Given the description of an element on the screen output the (x, y) to click on. 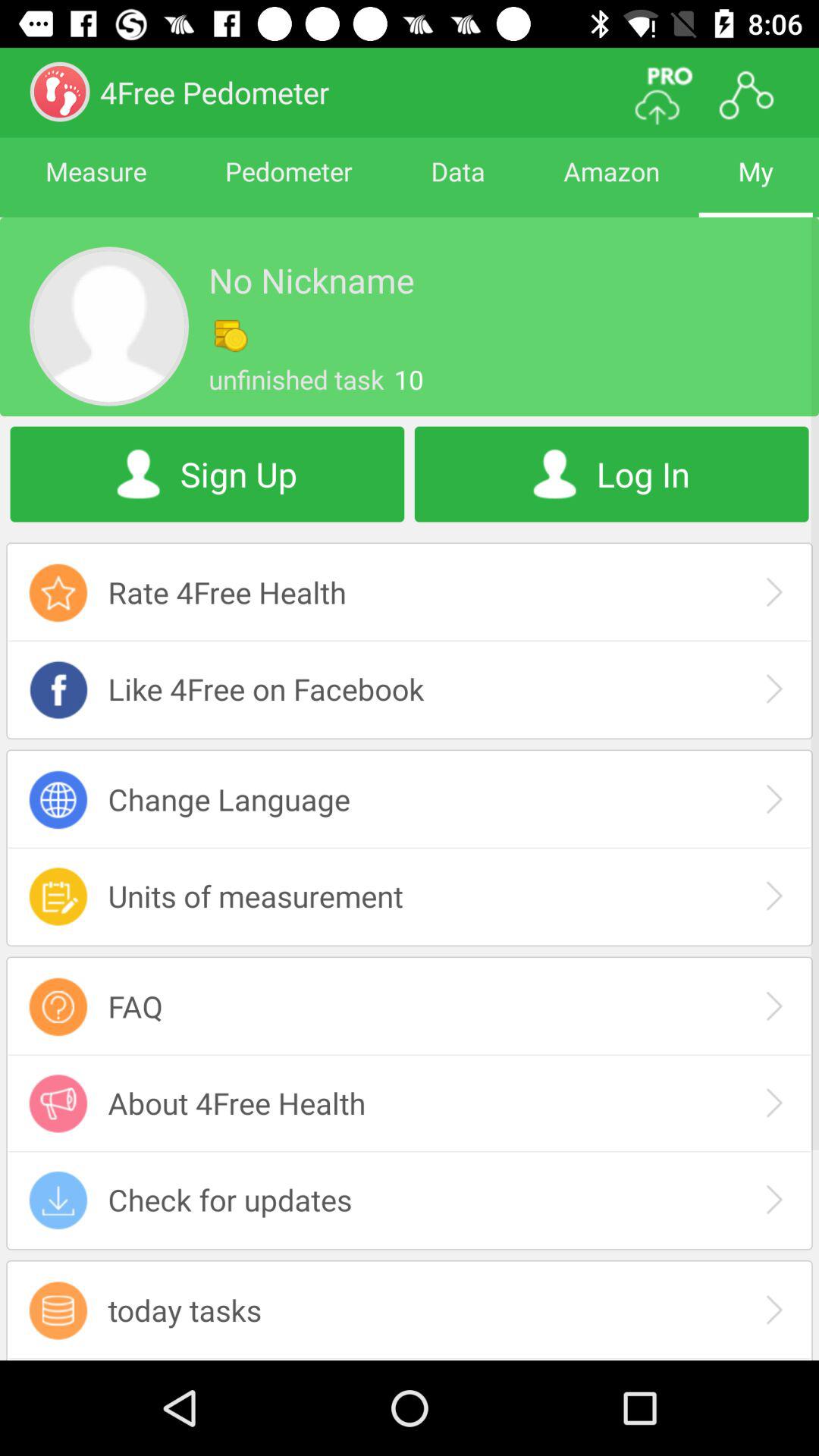
turn off my (755, 185)
